Given the description of an element on the screen output the (x, y) to click on. 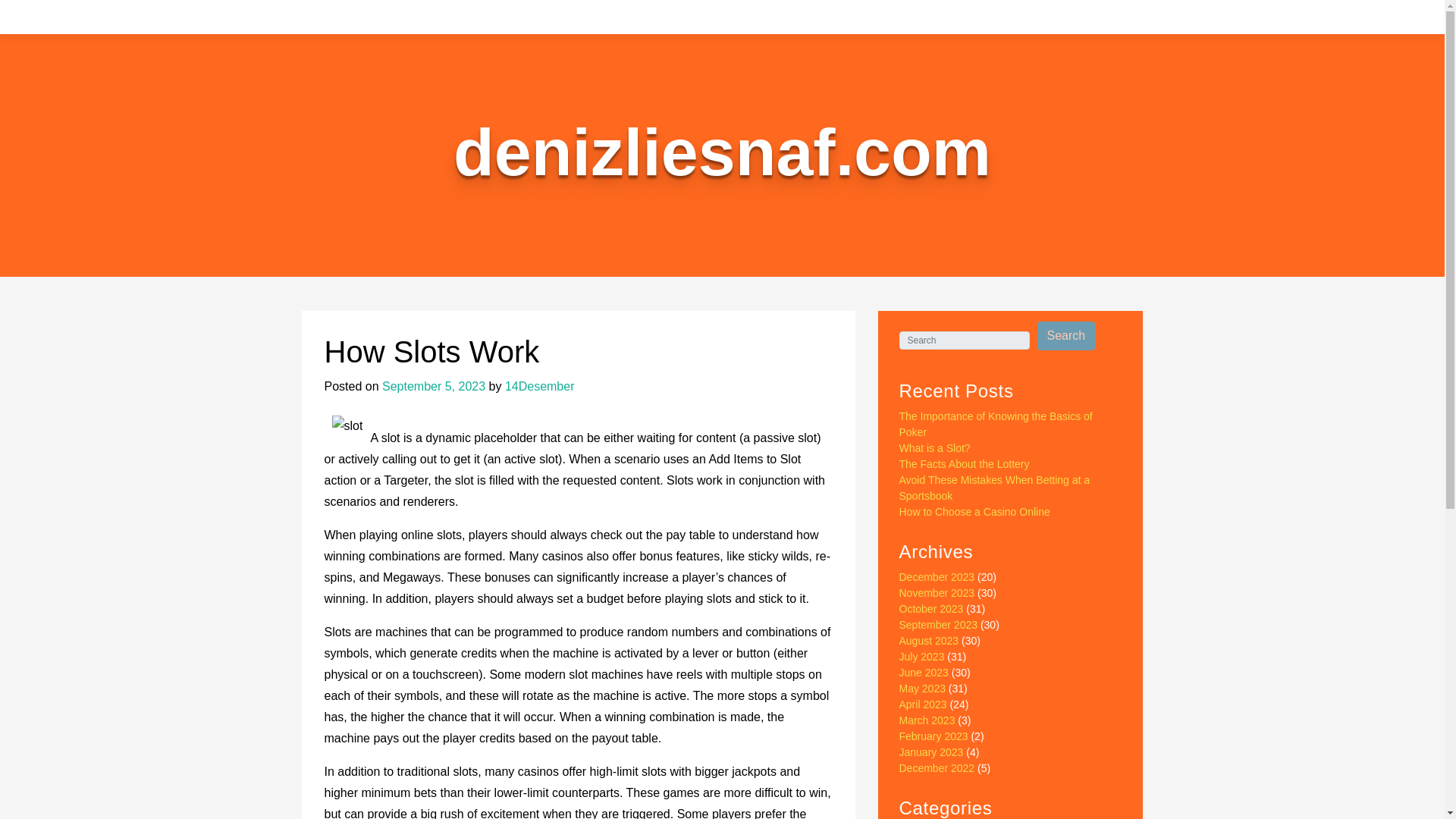
November 2023 (937, 592)
March 2023 (927, 720)
May 2023 (921, 688)
How to Choose a Casino Online (974, 511)
June 2023 (924, 672)
October 2023 (931, 608)
December 2023 (937, 576)
August 2023 (929, 640)
February 2023 (933, 736)
April 2023 (923, 704)
The Importance of Knowing the Basics of Poker (996, 424)
September 5, 2023 (432, 386)
Avoid These Mistakes When Betting at a Sportsbook (994, 488)
What is a Slot? (935, 448)
The Facts About the Lottery (964, 463)
